Given the description of an element on the screen output the (x, y) to click on. 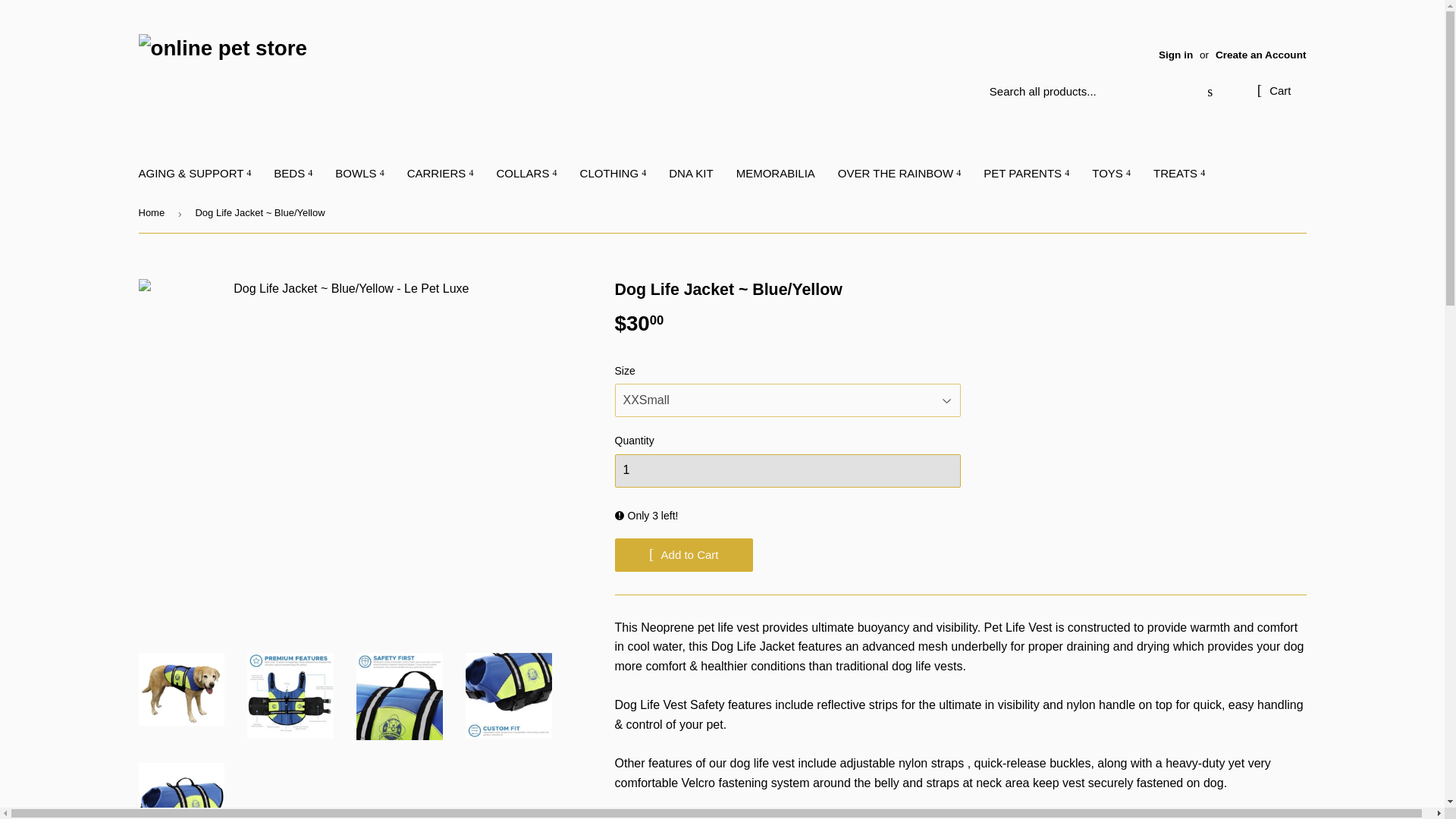
Sign in (1175, 54)
Create an Account (1260, 54)
Cart (1273, 91)
1 (786, 470)
Search (1209, 92)
